Given the description of an element on the screen output the (x, y) to click on. 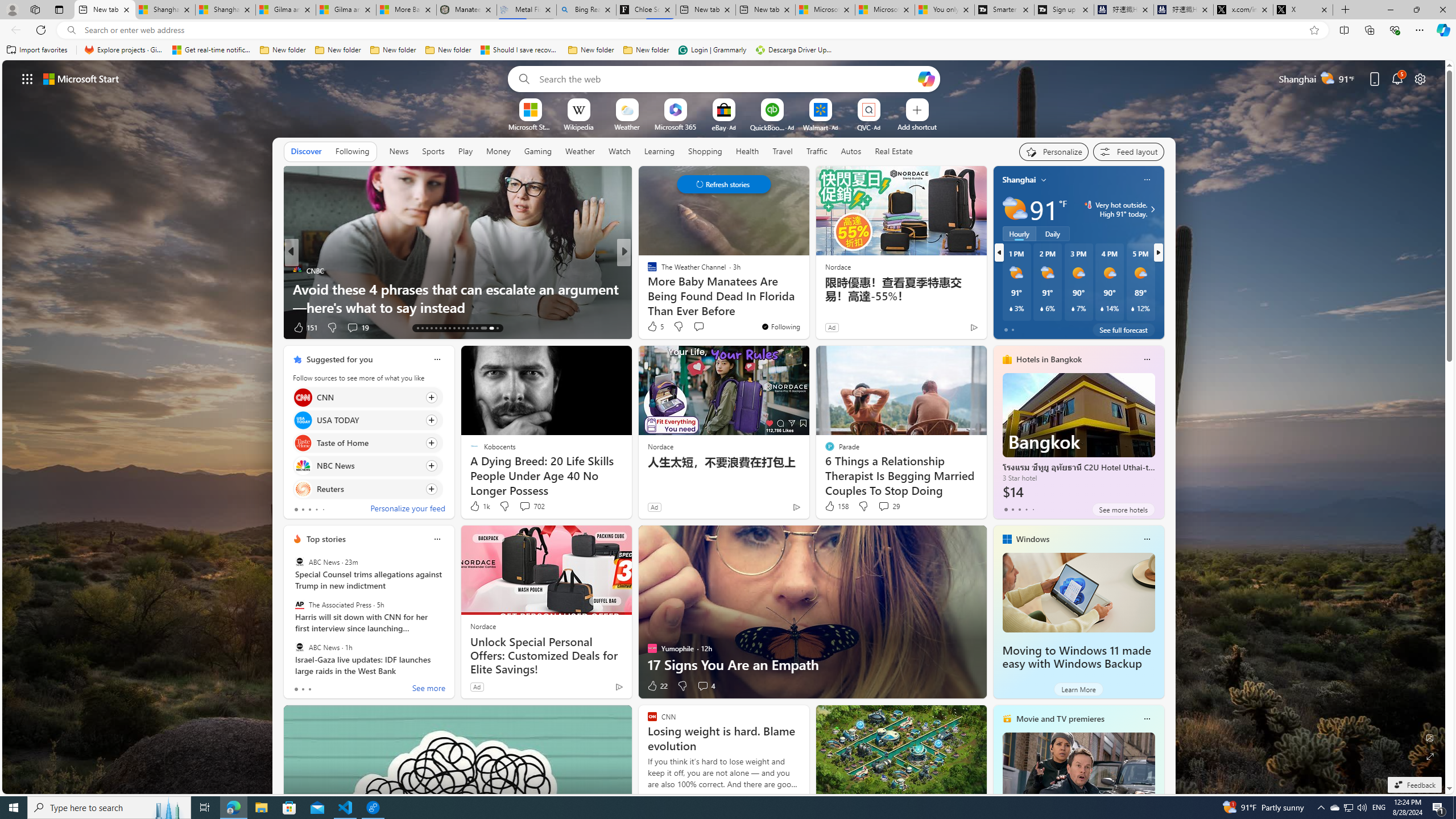
Smarter Living | T3 (1004, 9)
Dislike (682, 685)
Add a site (916, 126)
Learn More (1078, 689)
Weather (580, 151)
AutomationID: tab-14 (422, 328)
Personalize your feed" (1054, 151)
Watch (619, 151)
Edit Background (1430, 737)
Play (465, 151)
